Given the description of an element on the screen output the (x, y) to click on. 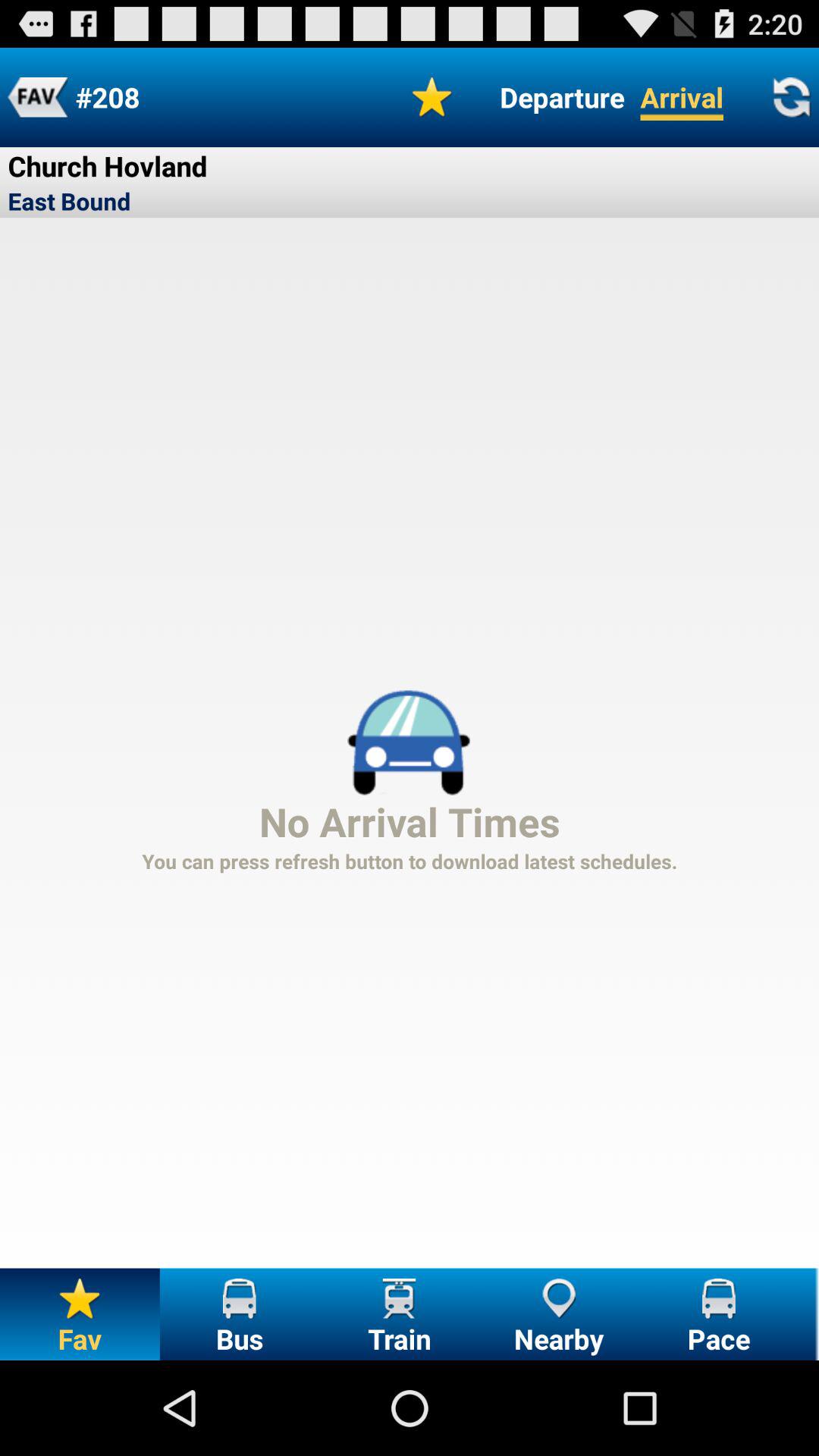
select the icon present above the train (399, 1298)
click on the icon which is left to the 208 (37, 97)
click on the star present on the top (432, 97)
click reload (791, 97)
